Given the description of an element on the screen output the (x, y) to click on. 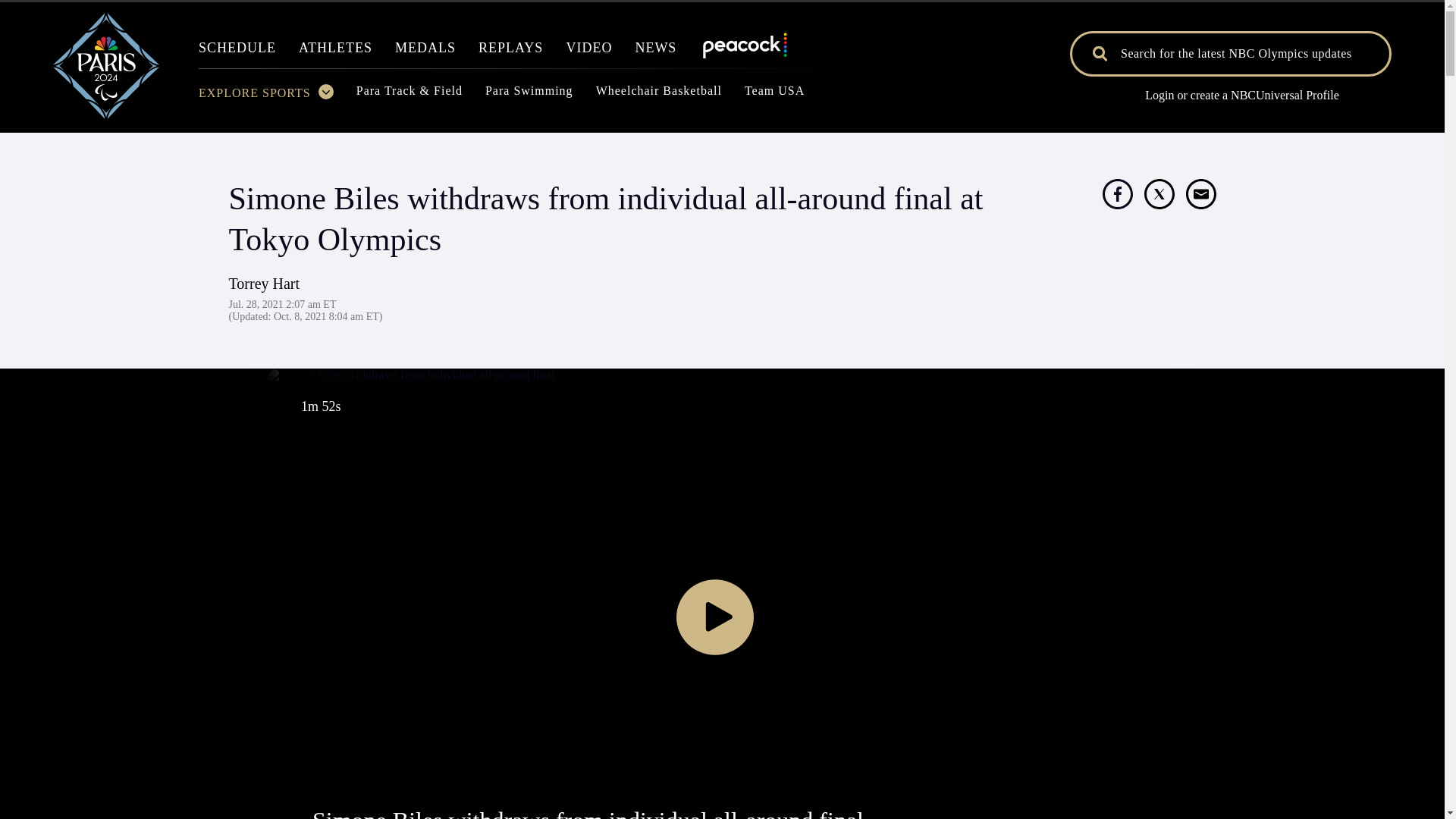
SCHEDULE (237, 51)
Share this article on Facebook (1117, 194)
Skip to main content (721, 119)
Para Swimming (528, 94)
ATHLETES (335, 51)
REPLAYS (511, 51)
Wheelchair Basketball (658, 94)
Team USA (774, 94)
